Given the description of an element on the screen output the (x, y) to click on. 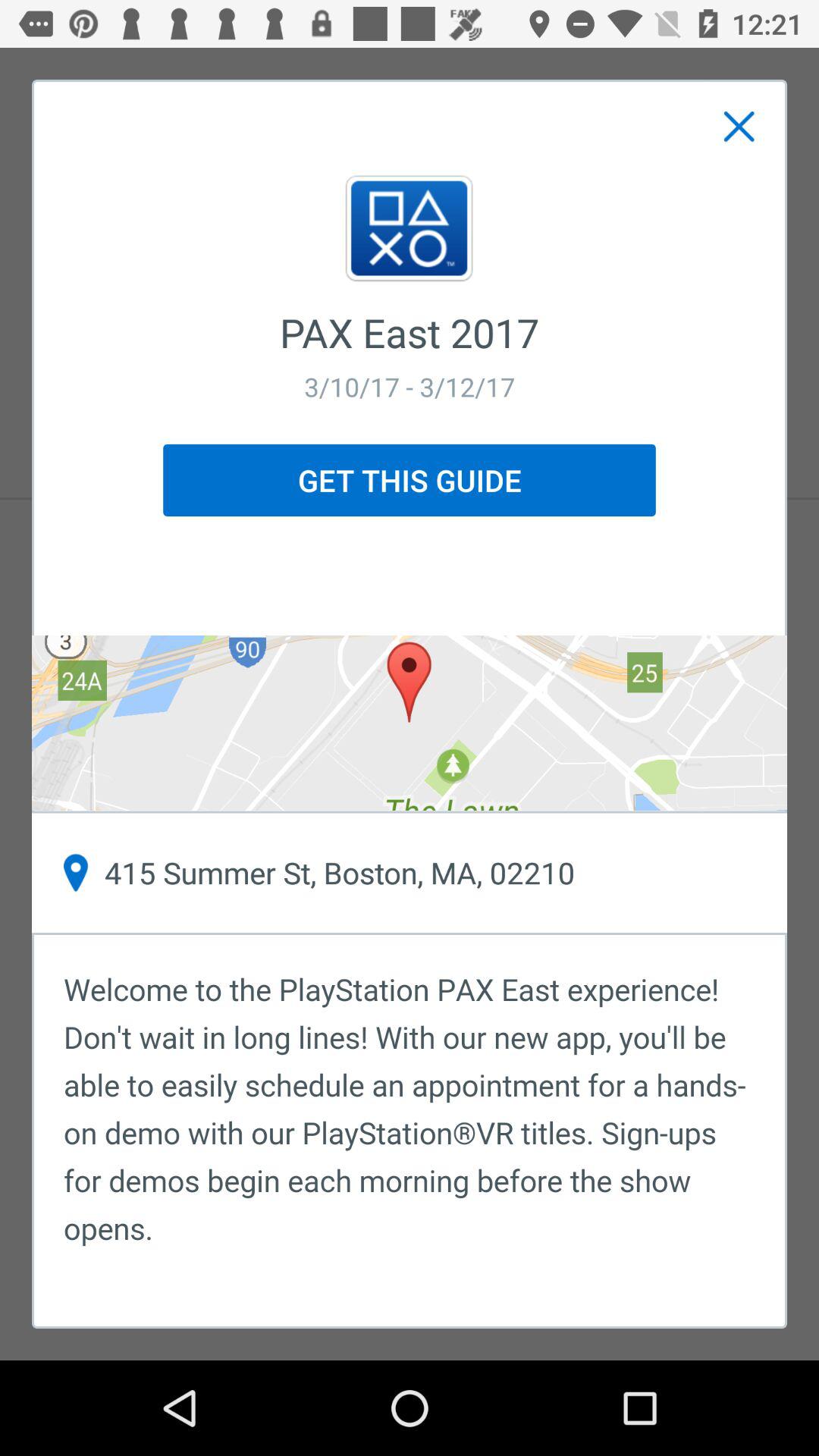
open icon below 3 10 17 icon (409, 480)
